Given the description of an element on the screen output the (x, y) to click on. 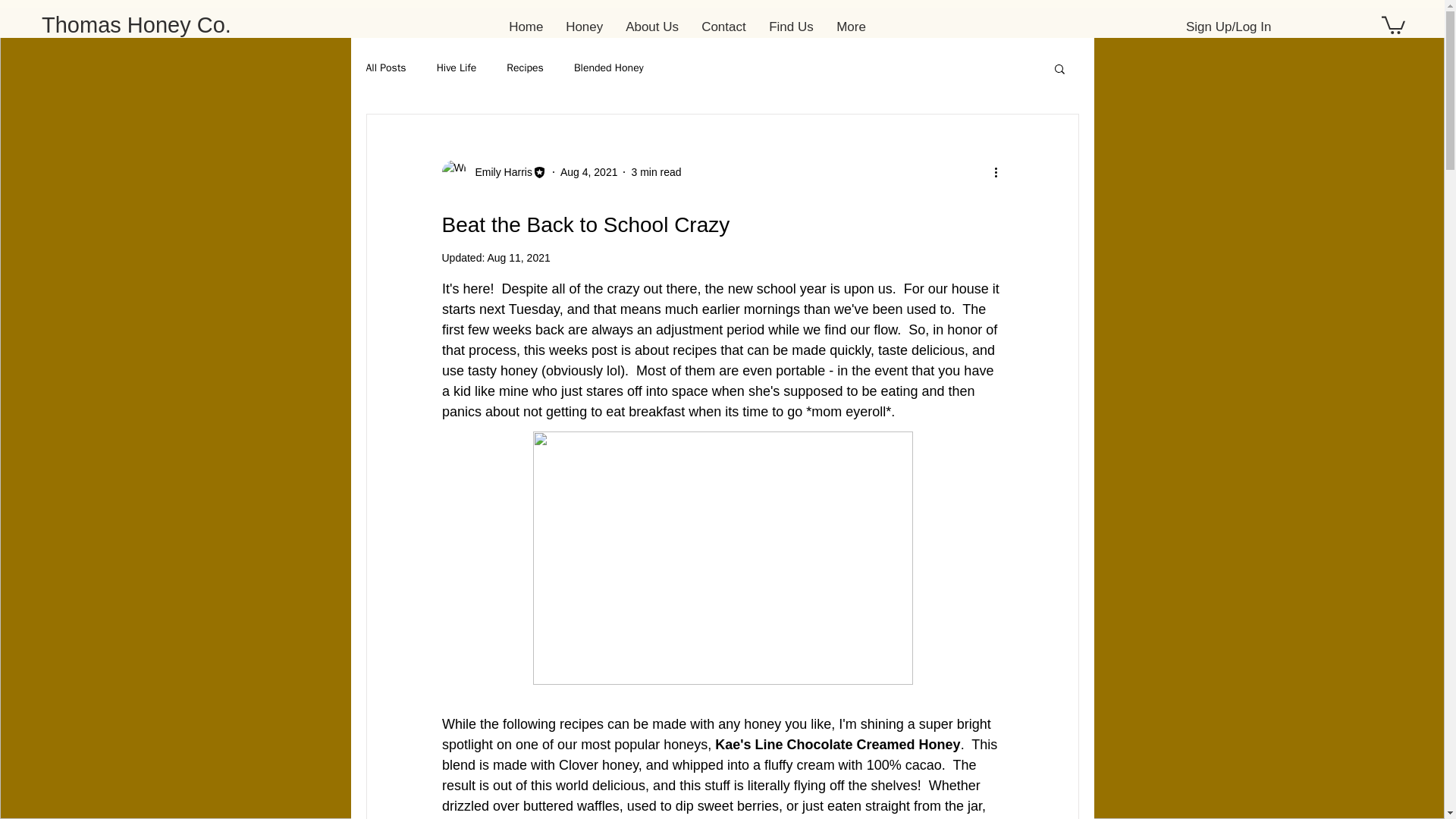
Emily Harris (493, 171)
About Us (652, 27)
Emily Harris (498, 171)
All Posts (385, 68)
Recipes (524, 68)
3 min read (655, 171)
Aug 11, 2021 (518, 257)
Contact (723, 27)
Thomas Honey Co. (136, 24)
Aug 4, 2021 (588, 171)
